Given the description of an element on the screen output the (x, y) to click on. 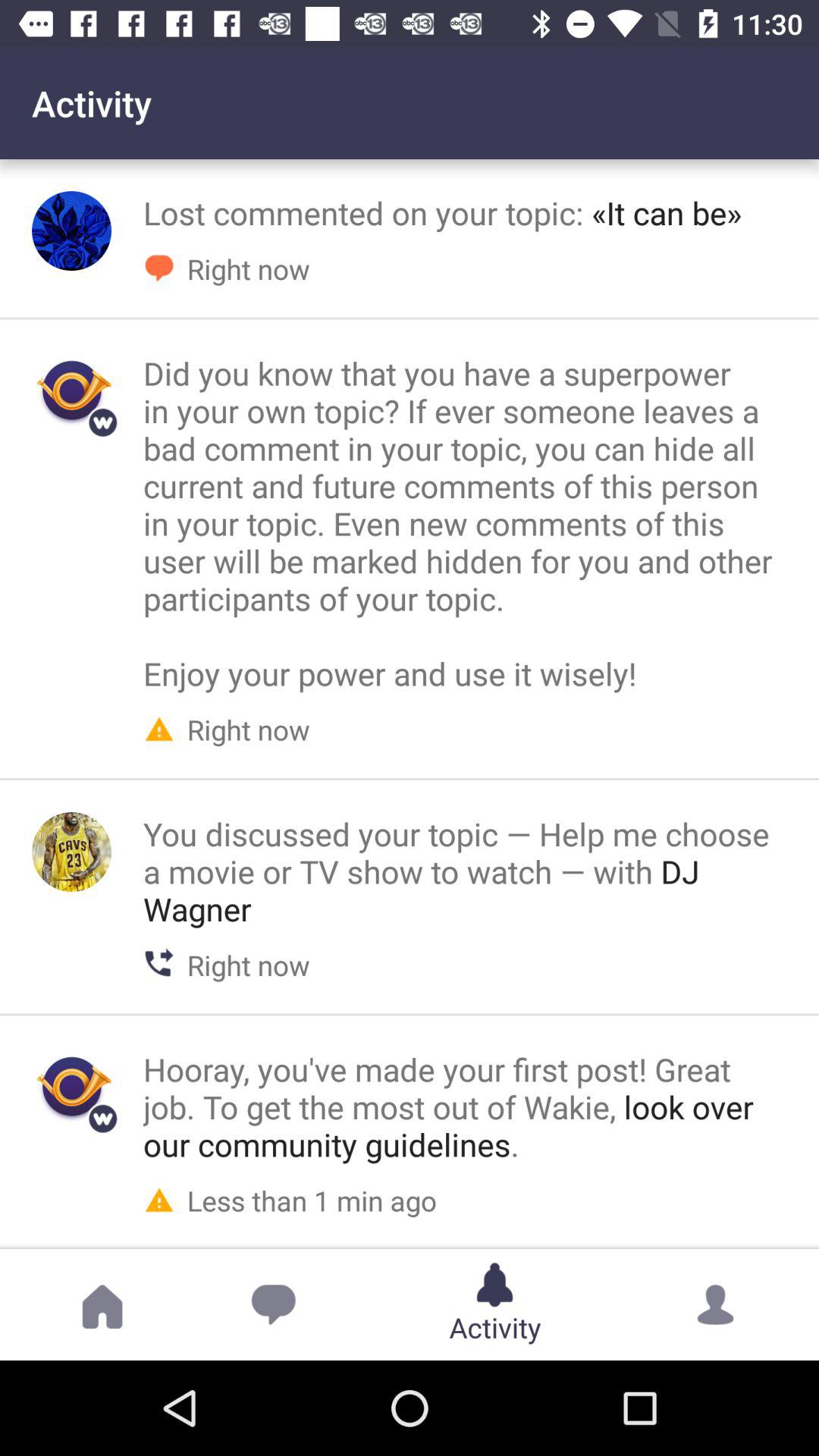
avatar for user (71, 230)
